Given the description of an element on the screen output the (x, y) to click on. 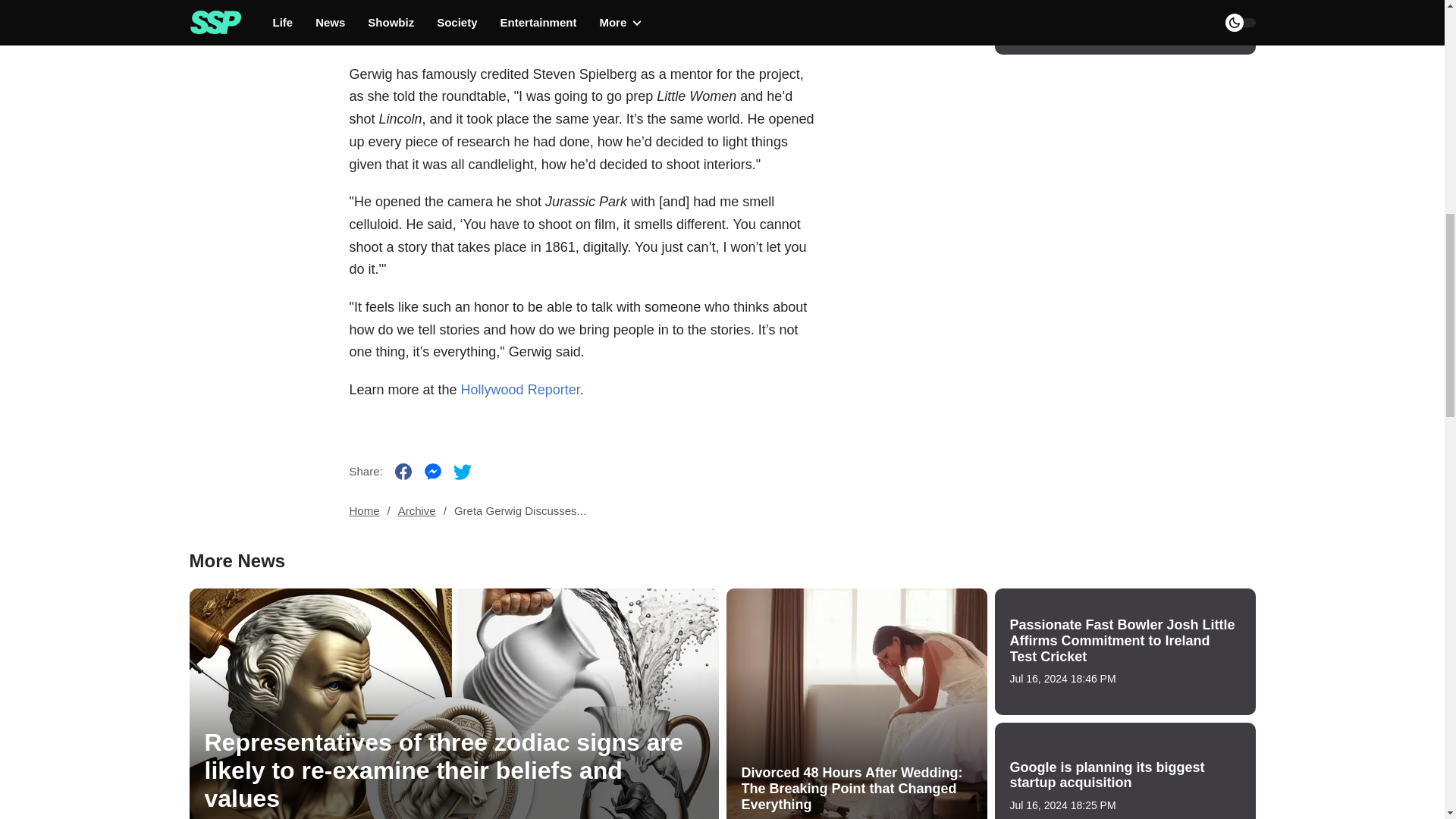
Home (363, 510)
Archive (416, 510)
Hollywood Reporter (520, 389)
Hollywood Reporter (451, 36)
